Given the description of an element on the screen output the (x, y) to click on. 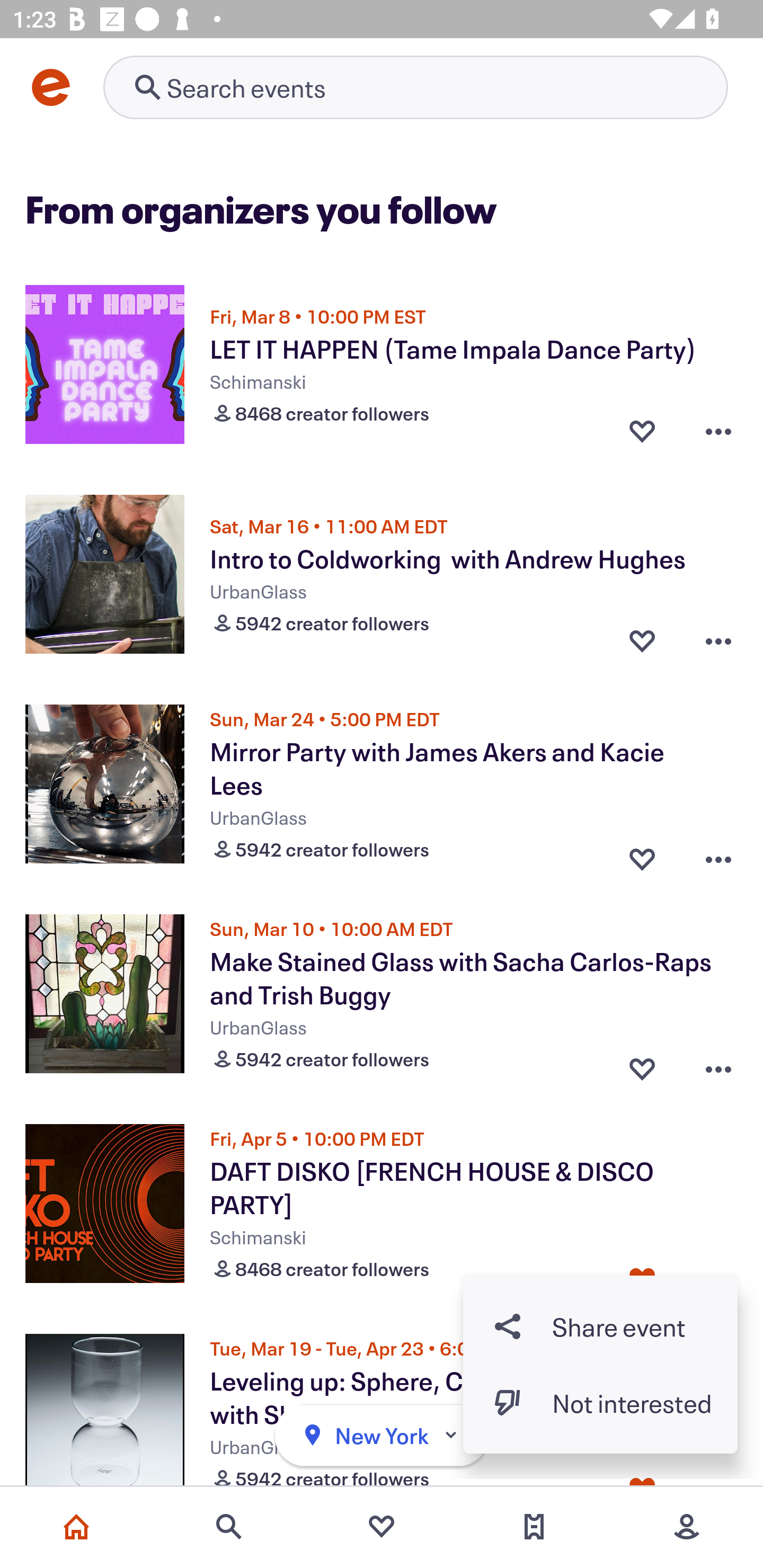
Share button Share event (600, 1326)
Dislike event button Not interested (600, 1402)
